Given the description of an element on the screen output the (x, y) to click on. 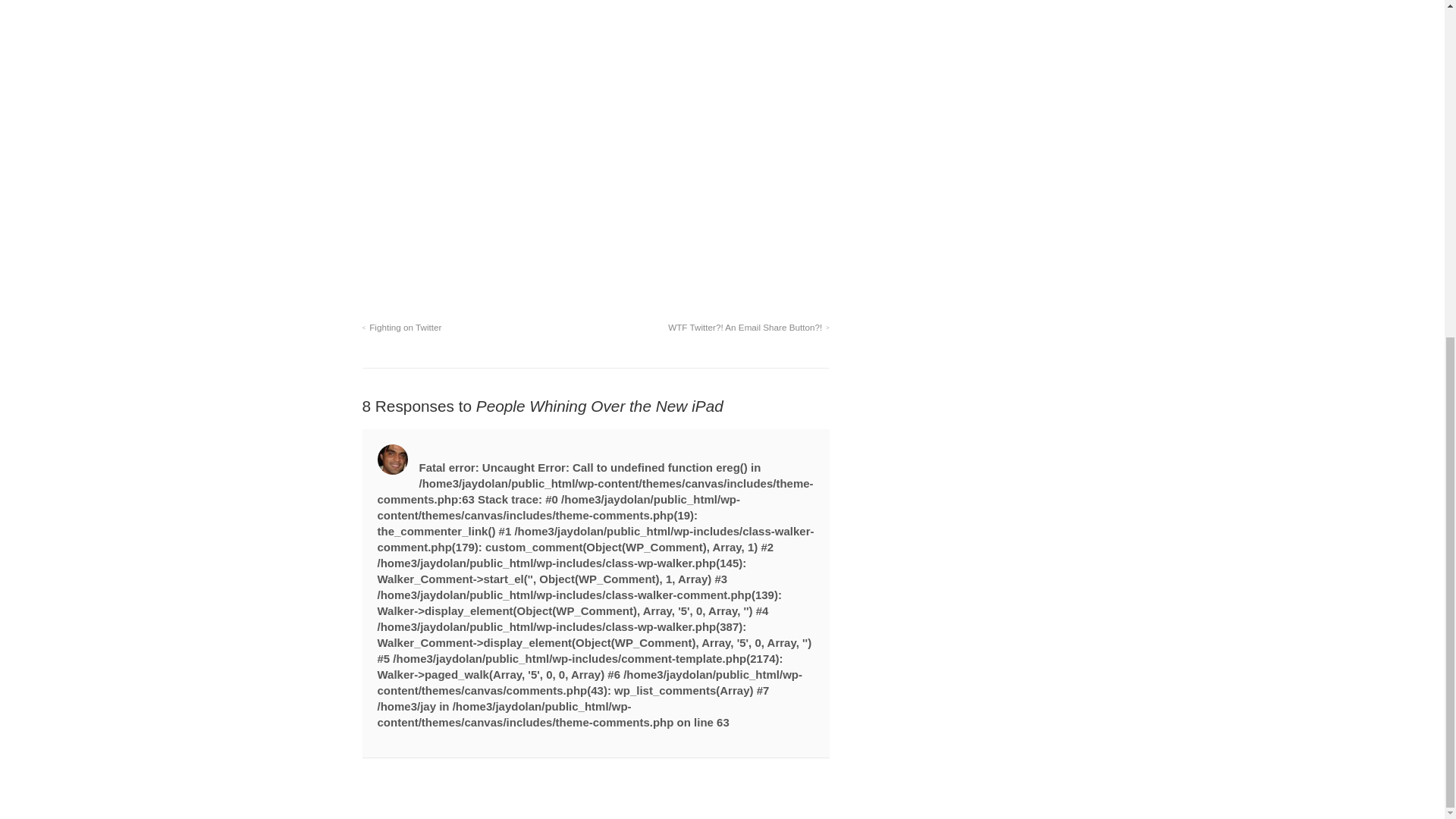
Fighting on Twitter (402, 327)
WTF Twitter?! An Email Share Button?! (748, 327)
